Given the description of an element on the screen output the (x, y) to click on. 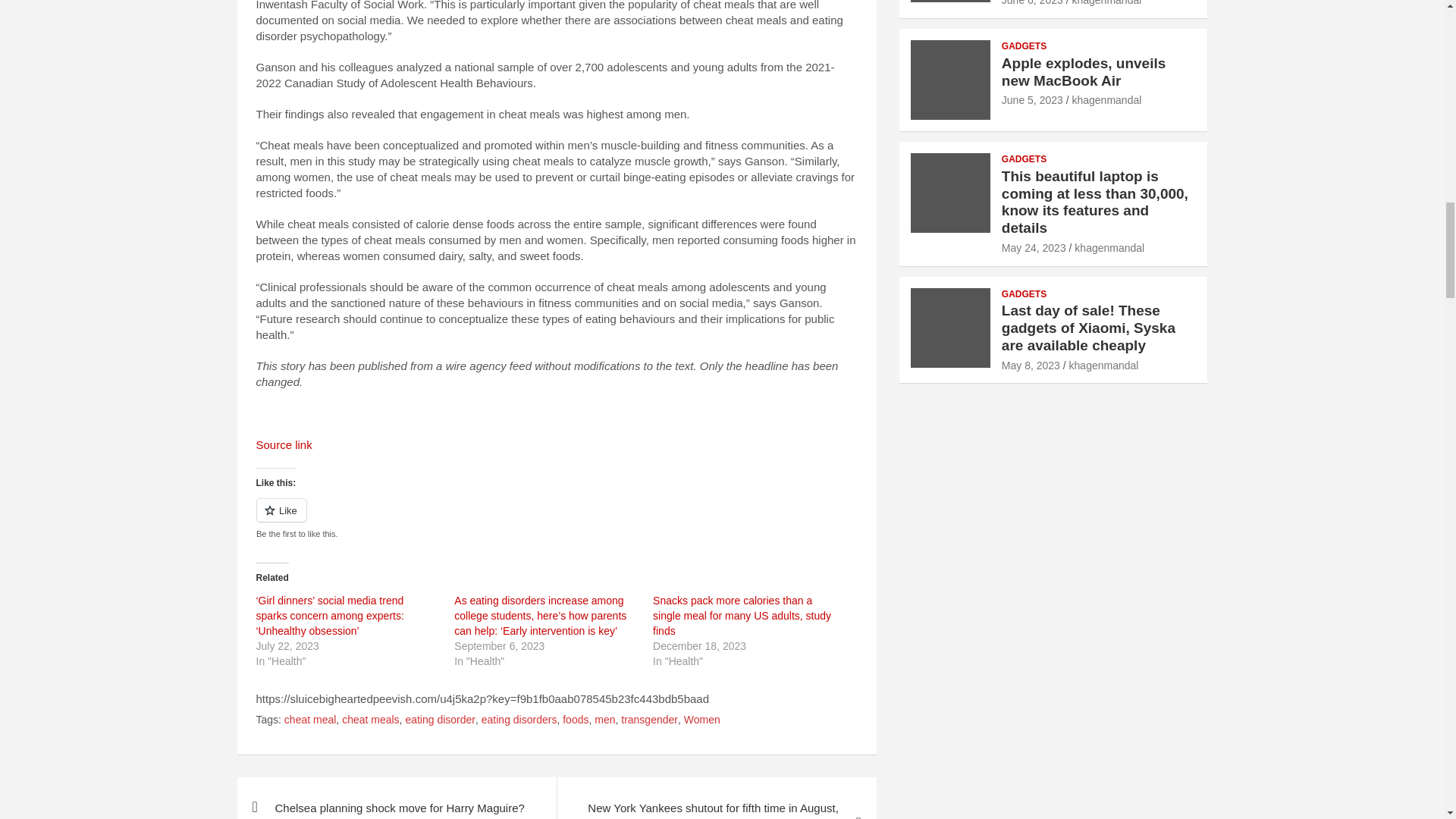
Like or Reblog (556, 518)
Apple explodes, unveils new MacBook Air (1031, 100)
